Given the description of an element on the screen output the (x, y) to click on. 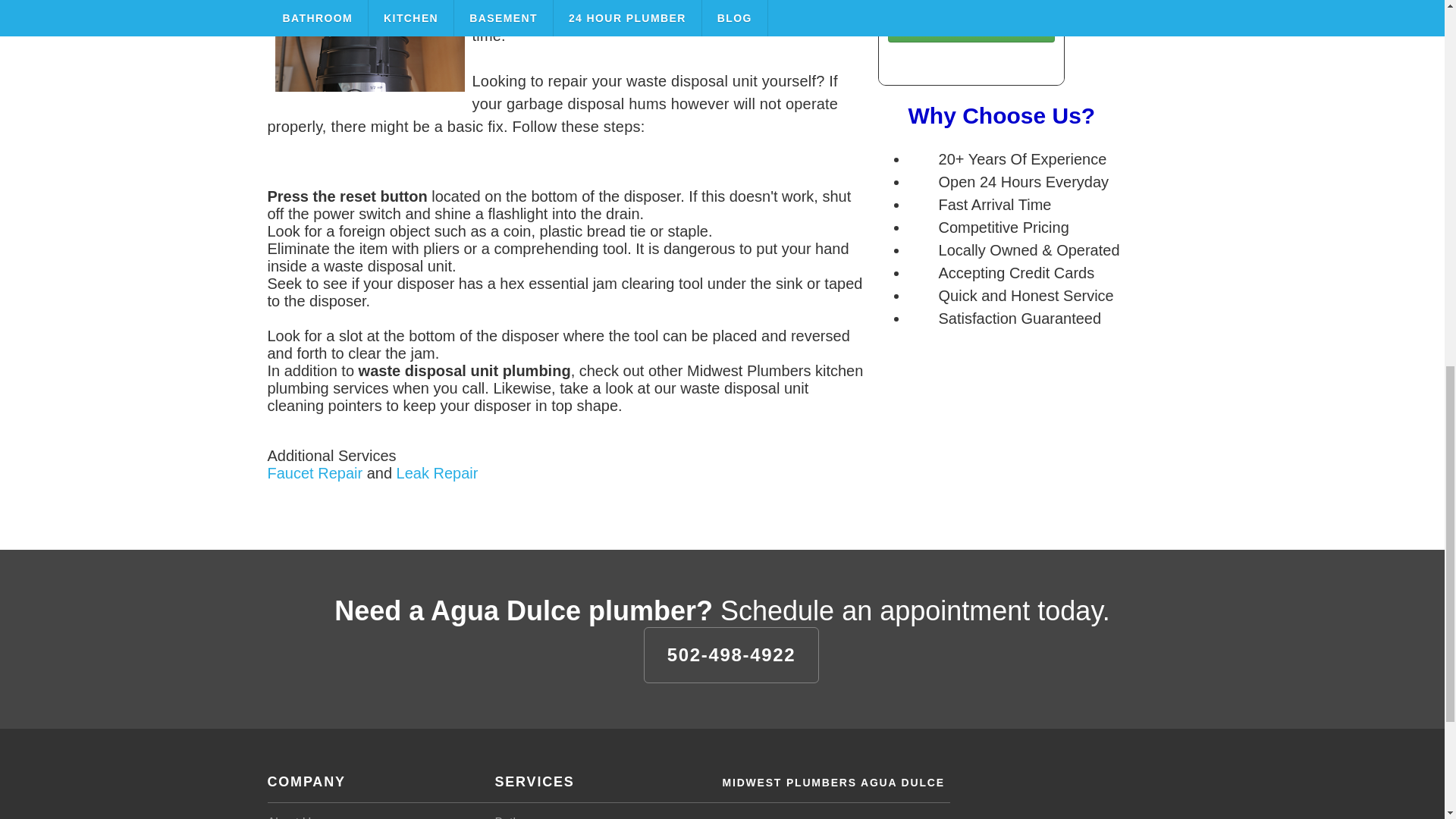
About Us (291, 817)
Faucet Repair (314, 473)
502-498-4922 (731, 655)
Leak Repair (437, 473)
Bathroom (521, 817)
